Given the description of an element on the screen output the (x, y) to click on. 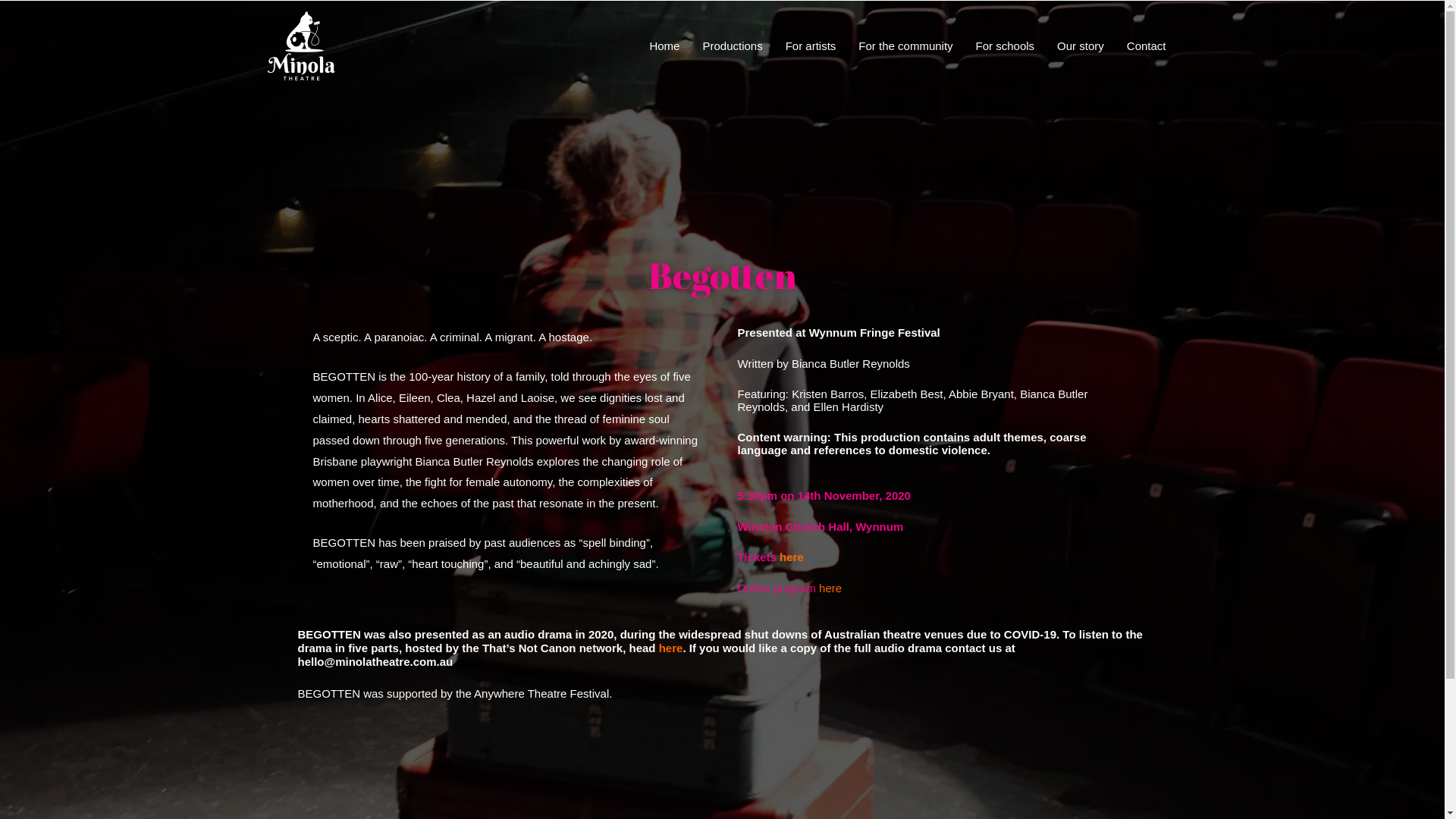
here Element type: text (830, 587)
here Element type: text (670, 647)
Home Element type: text (663, 45)
Our story Element type: text (1080, 45)
Contact Element type: text (1146, 45)
Productions Element type: text (731, 45)
For schools Element type: text (1005, 45)
For the community Element type: text (905, 45)
For artists Element type: text (810, 45)
here Element type: text (791, 556)
